Given the description of an element on the screen output the (x, y) to click on. 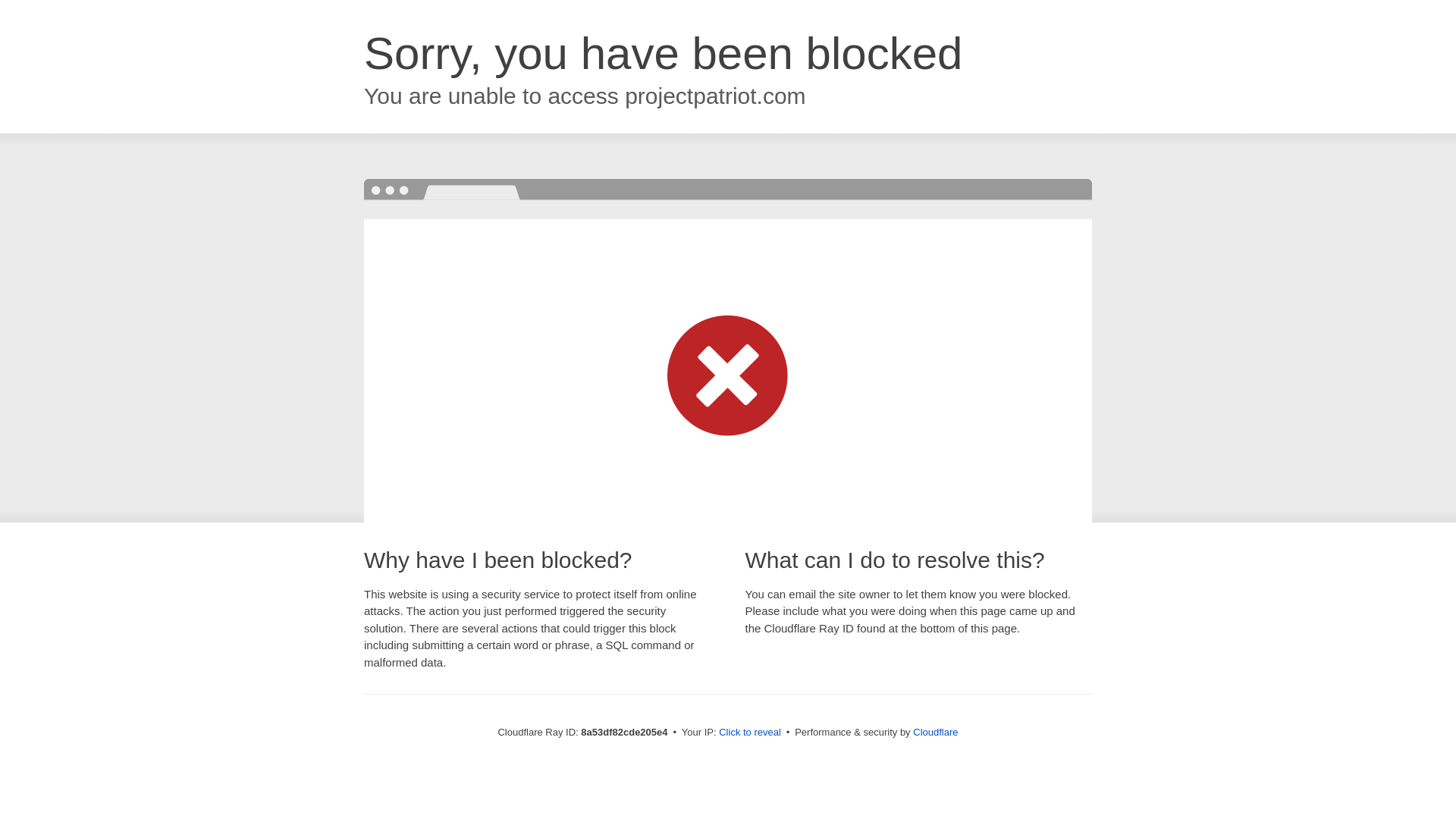
Click to reveal (749, 732)
Cloudflare (935, 731)
